Given the description of an element on the screen output the (x, y) to click on. 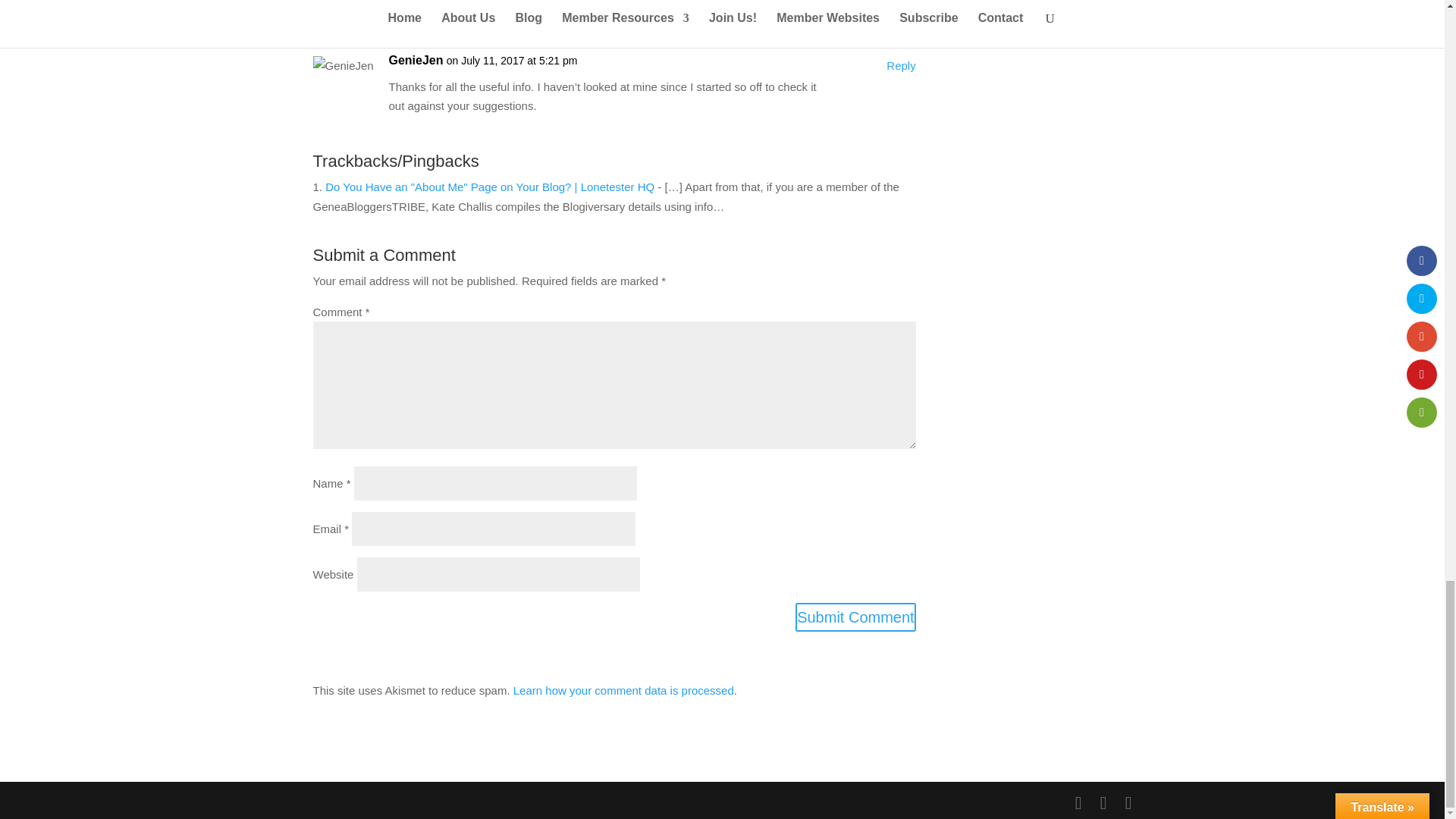
Reply (900, 66)
Submit Comment (854, 616)
Learn how your comment data is processed (623, 689)
Submit Comment (854, 616)
GenieJen (415, 60)
